Given the description of an element on the screen output the (x, y) to click on. 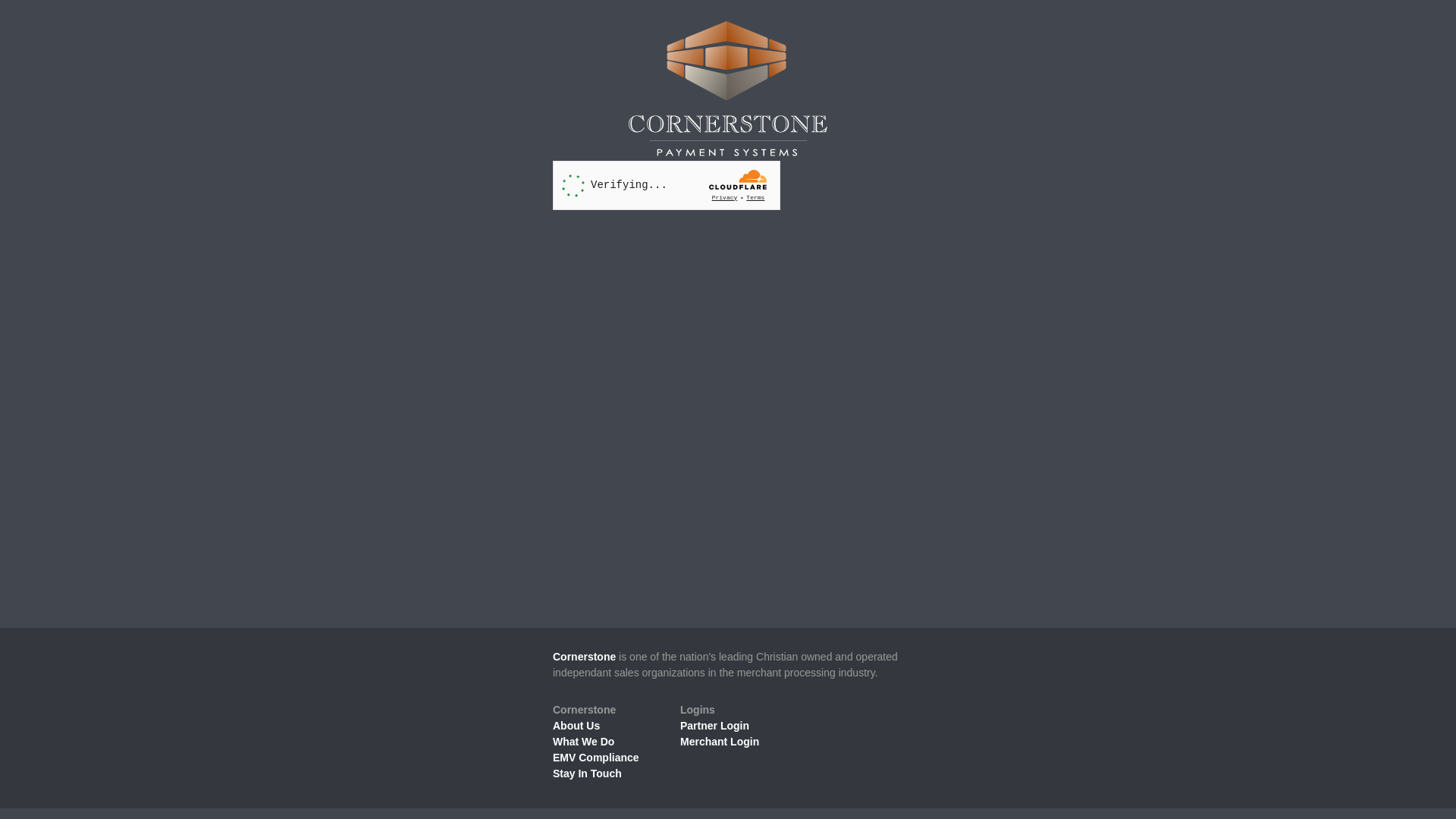
EMV Compliance Element type: text (595, 757)
What We Do Element type: text (583, 741)
Widget containing a Cloudflare security challenge Element type: hover (666, 185)
Stay In Touch Element type: text (586, 773)
Cornerstone Element type: text (583, 656)
Merchant Login Element type: text (719, 741)
About Us Element type: text (575, 725)
Partner Login Element type: text (714, 725)
